Given the description of an element on the screen output the (x, y) to click on. 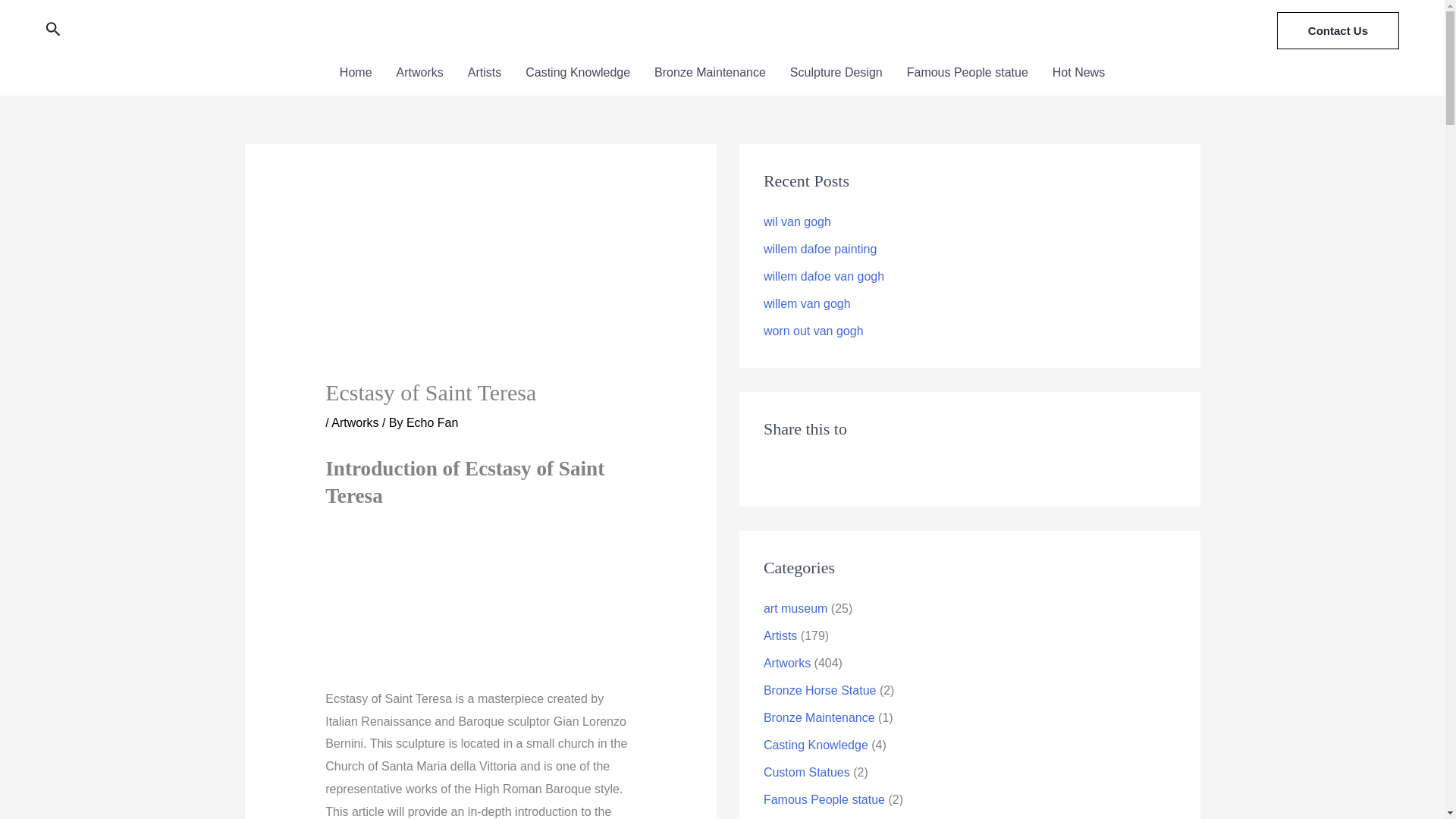
Hot News (1078, 72)
Home (355, 72)
Contact Us (1337, 30)
Artists (484, 72)
Casting Knowledge (577, 72)
Echo Fan (432, 422)
Bronze Maintenance (709, 72)
Artworks (419, 72)
Artworks (354, 422)
Sculpture Design (836, 72)
